Given the description of an element on the screen output the (x, y) to click on. 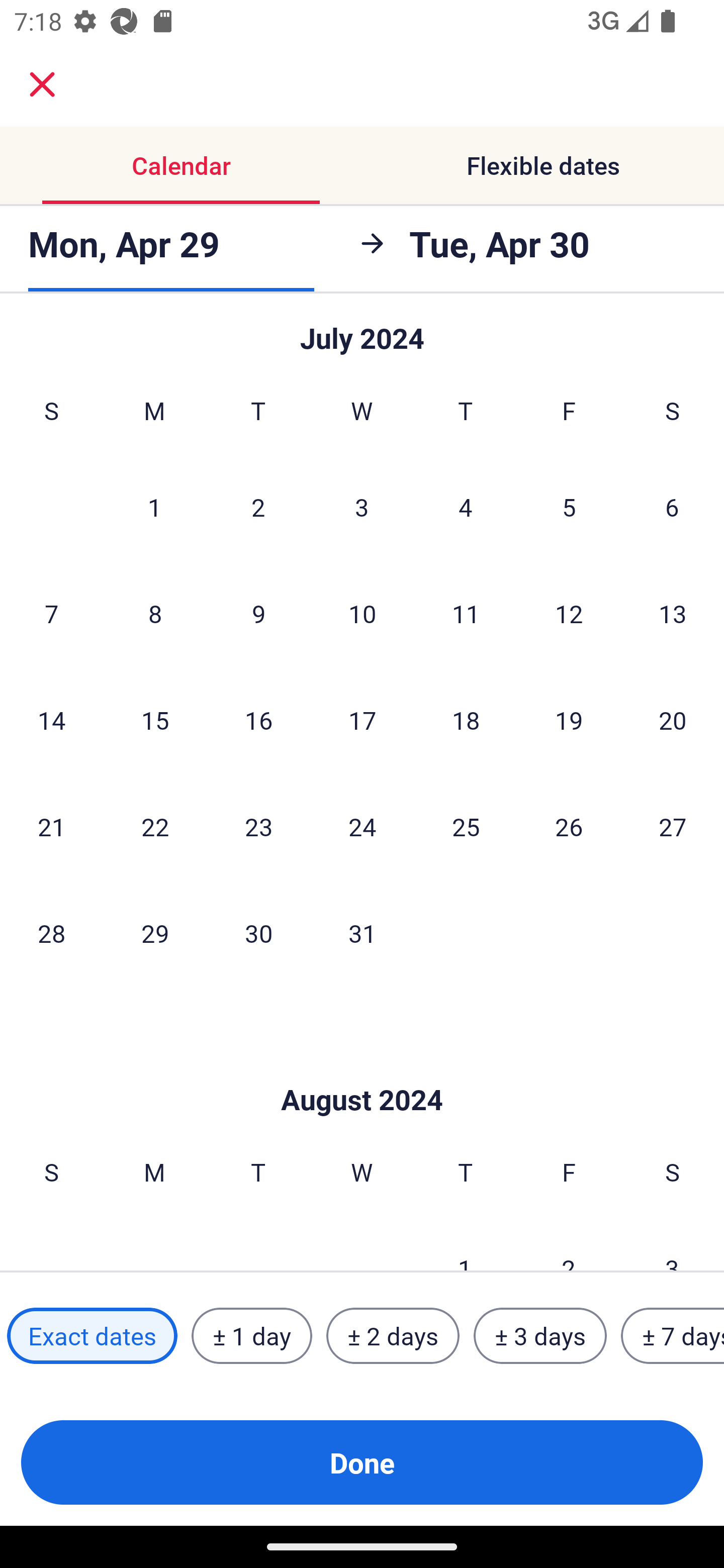
close. (42, 84)
Flexible dates (542, 164)
1 Monday, July 1, 2024 (154, 506)
2 Tuesday, July 2, 2024 (257, 506)
3 Wednesday, July 3, 2024 (361, 506)
4 Thursday, July 4, 2024 (465, 506)
5 Friday, July 5, 2024 (568, 506)
6 Saturday, July 6, 2024 (672, 506)
7 Sunday, July 7, 2024 (51, 612)
8 Monday, July 8, 2024 (155, 612)
9 Tuesday, July 9, 2024 (258, 612)
10 Wednesday, July 10, 2024 (362, 612)
11 Thursday, July 11, 2024 (465, 612)
12 Friday, July 12, 2024 (569, 612)
13 Saturday, July 13, 2024 (672, 612)
14 Sunday, July 14, 2024 (51, 719)
15 Monday, July 15, 2024 (155, 719)
16 Tuesday, July 16, 2024 (258, 719)
17 Wednesday, July 17, 2024 (362, 719)
18 Thursday, July 18, 2024 (465, 719)
19 Friday, July 19, 2024 (569, 719)
20 Saturday, July 20, 2024 (672, 719)
21 Sunday, July 21, 2024 (51, 826)
22 Monday, July 22, 2024 (155, 826)
23 Tuesday, July 23, 2024 (258, 826)
24 Wednesday, July 24, 2024 (362, 826)
25 Thursday, July 25, 2024 (465, 826)
26 Friday, July 26, 2024 (569, 826)
27 Saturday, July 27, 2024 (672, 826)
28 Sunday, July 28, 2024 (51, 932)
29 Monday, July 29, 2024 (155, 932)
30 Tuesday, July 30, 2024 (258, 932)
31 Wednesday, July 31, 2024 (362, 932)
Skip to Done (362, 1069)
Exact dates (92, 1335)
± 1 day (251, 1335)
± 2 days (392, 1335)
± 3 days (539, 1335)
± 7 days (672, 1335)
Done (361, 1462)
